Given the description of an element on the screen output the (x, y) to click on. 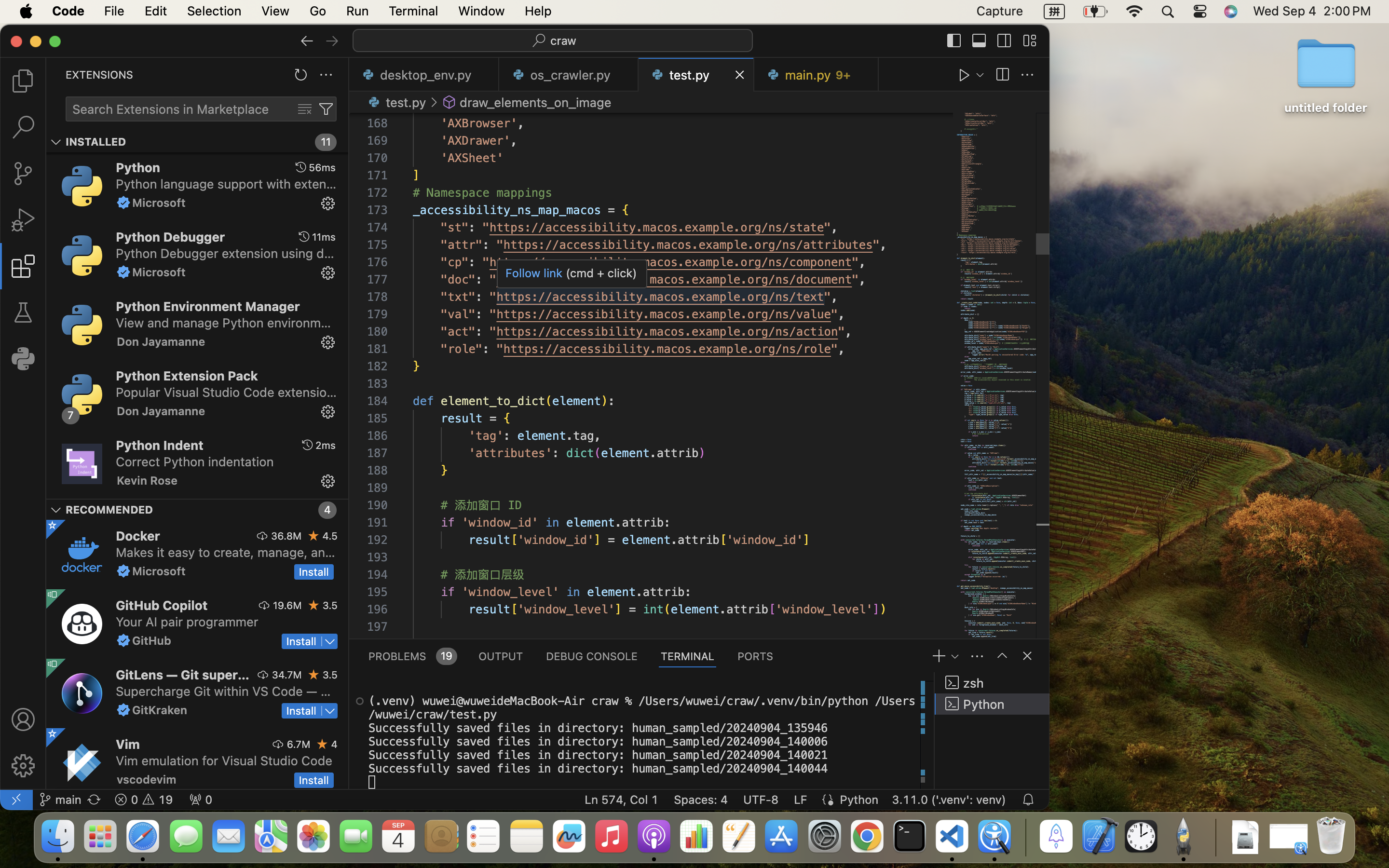
Vim emulation for Visual Studio Code Element type: AXStaticText (223, 760)
EXTENSIONS Element type: AXStaticText (99, 74)
Don Jayamanne Element type: AXStaticText (160, 341)
19 0   Element type: AXButton (143, 799)
main  Element type: AXButton (59, 799)
